Given the description of an element on the screen output the (x, y) to click on. 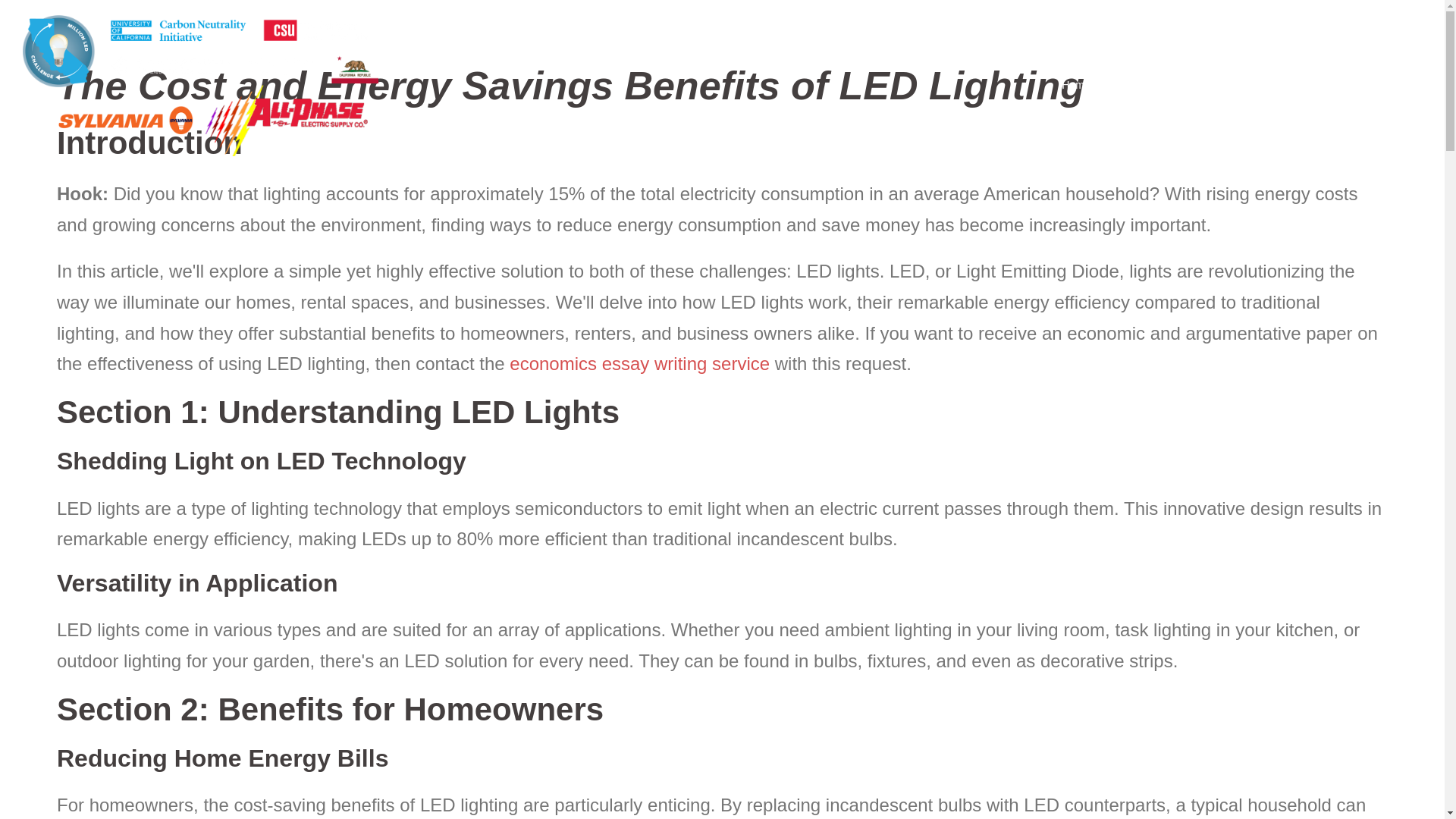
Purchase (1388, 85)
economics essay writing service (639, 362)
California Million Lamp Challenge (200, 84)
Home page (1088, 85)
Product Listing (1310, 85)
